Given the description of an element on the screen output the (x, y) to click on. 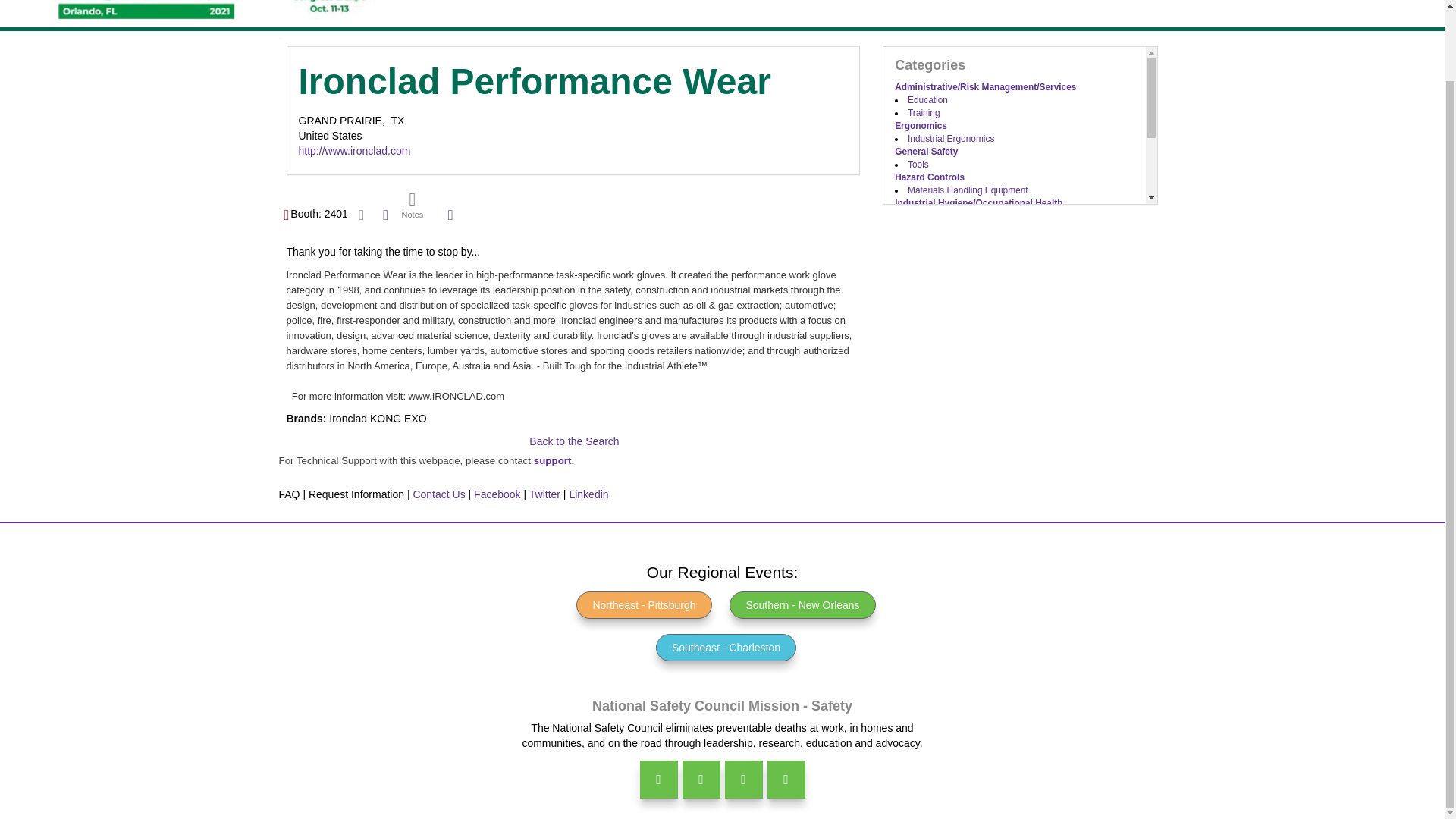
Hazardous Waste (942, 215)
Materials Handling Equipment (967, 190)
Tools (917, 163)
General Safety (926, 151)
Industrial Ergonomics (950, 138)
Back to the Search (573, 440)
Training (923, 112)
General Body Protection (956, 241)
Hazard Controls (929, 176)
Equipment (928, 293)
Education (927, 100)
Protective Fabrics (943, 267)
Print (385, 214)
Ergonomics (921, 125)
Request Appointment (361, 214)
